Given the description of an element on the screen output the (x, y) to click on. 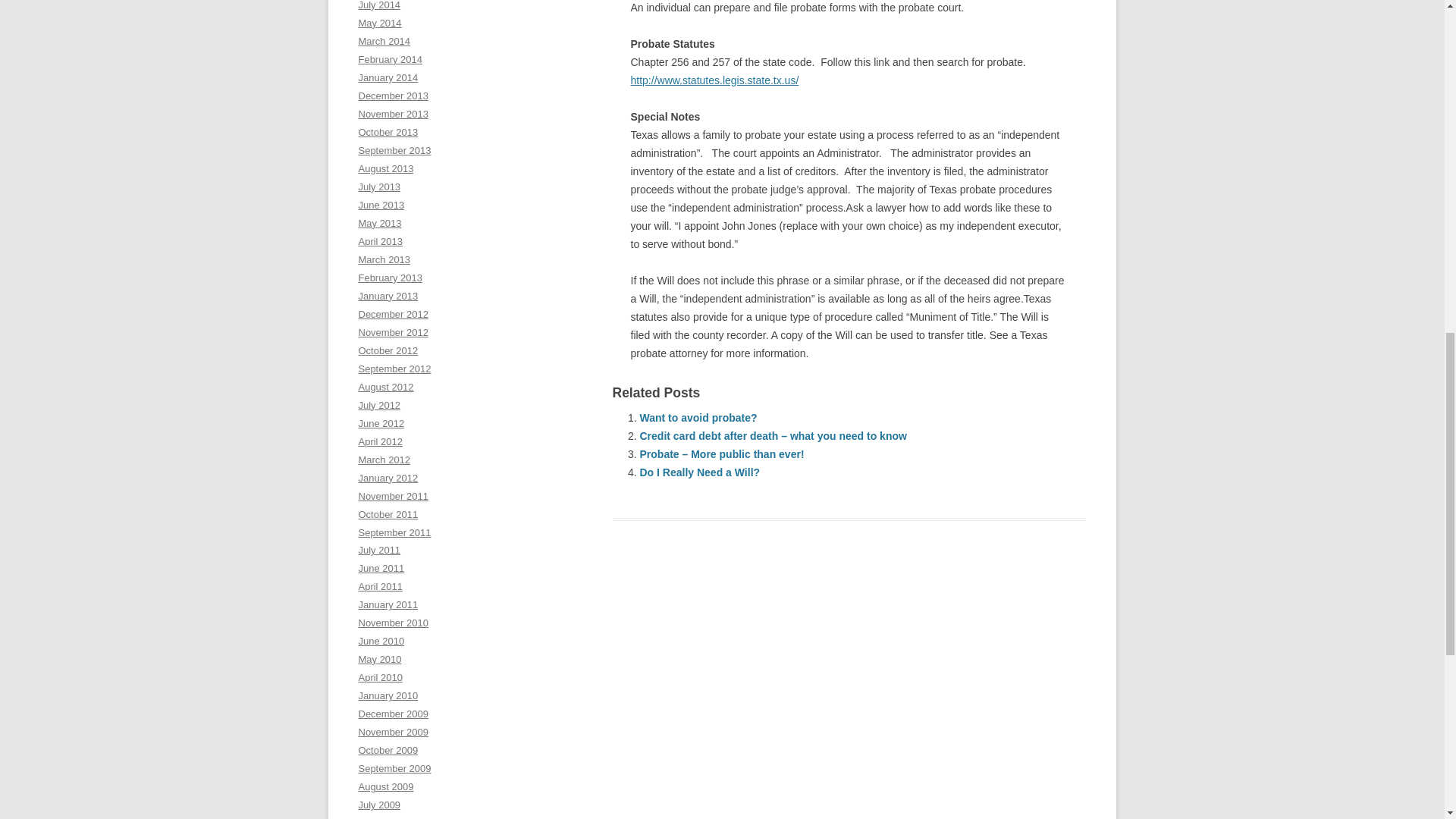
Want to avoid probate? (698, 417)
Do I Really Need a Will? (700, 472)
